Given the description of an element on the screen output the (x, y) to click on. 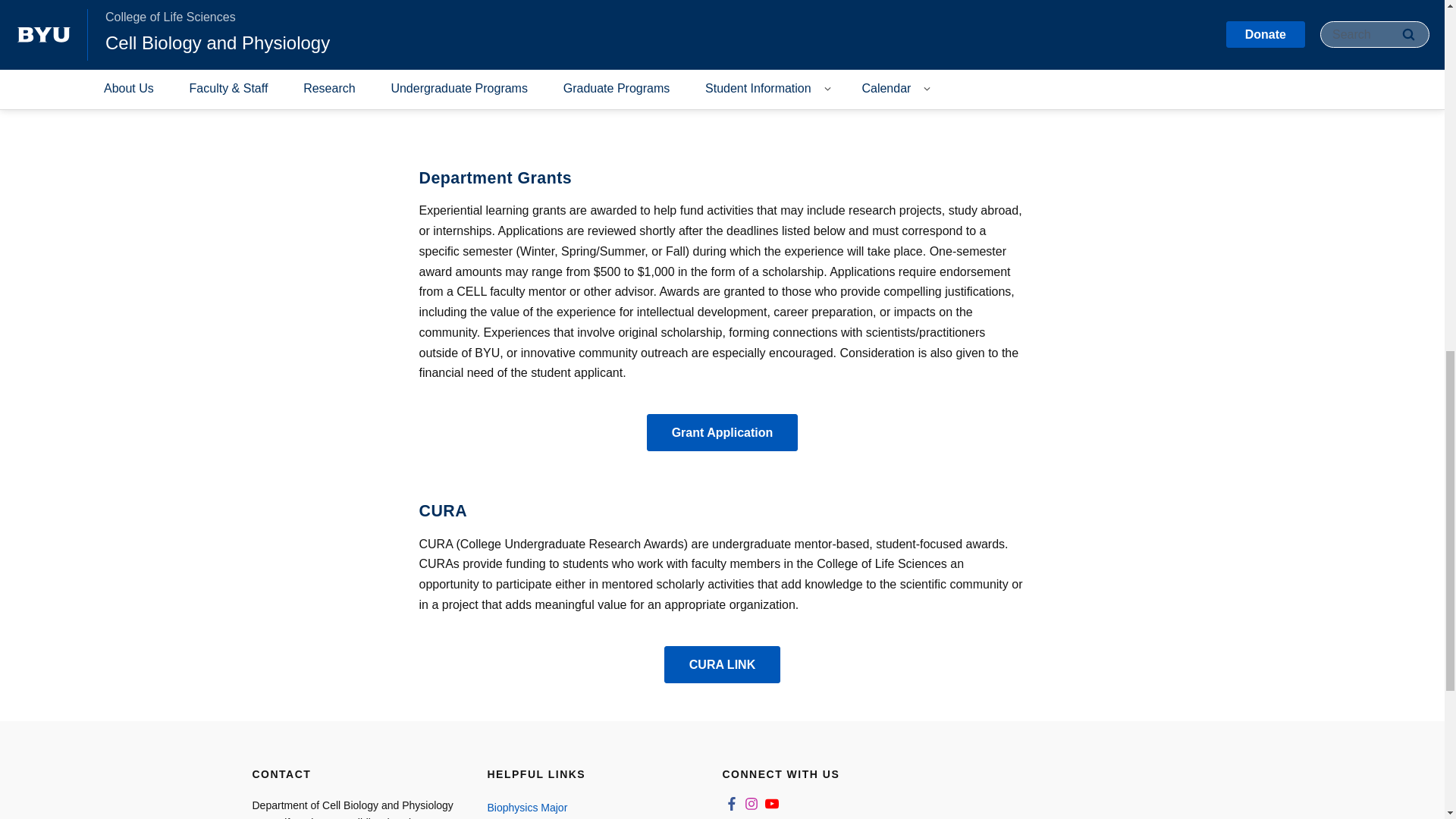
CURA LINK (721, 664)
Grant Application (721, 432)
Link to instagram (751, 803)
Biophysics Major (588, 807)
Link to youtube (771, 803)
Link to facebook (730, 803)
